Given the description of an element on the screen output the (x, y) to click on. 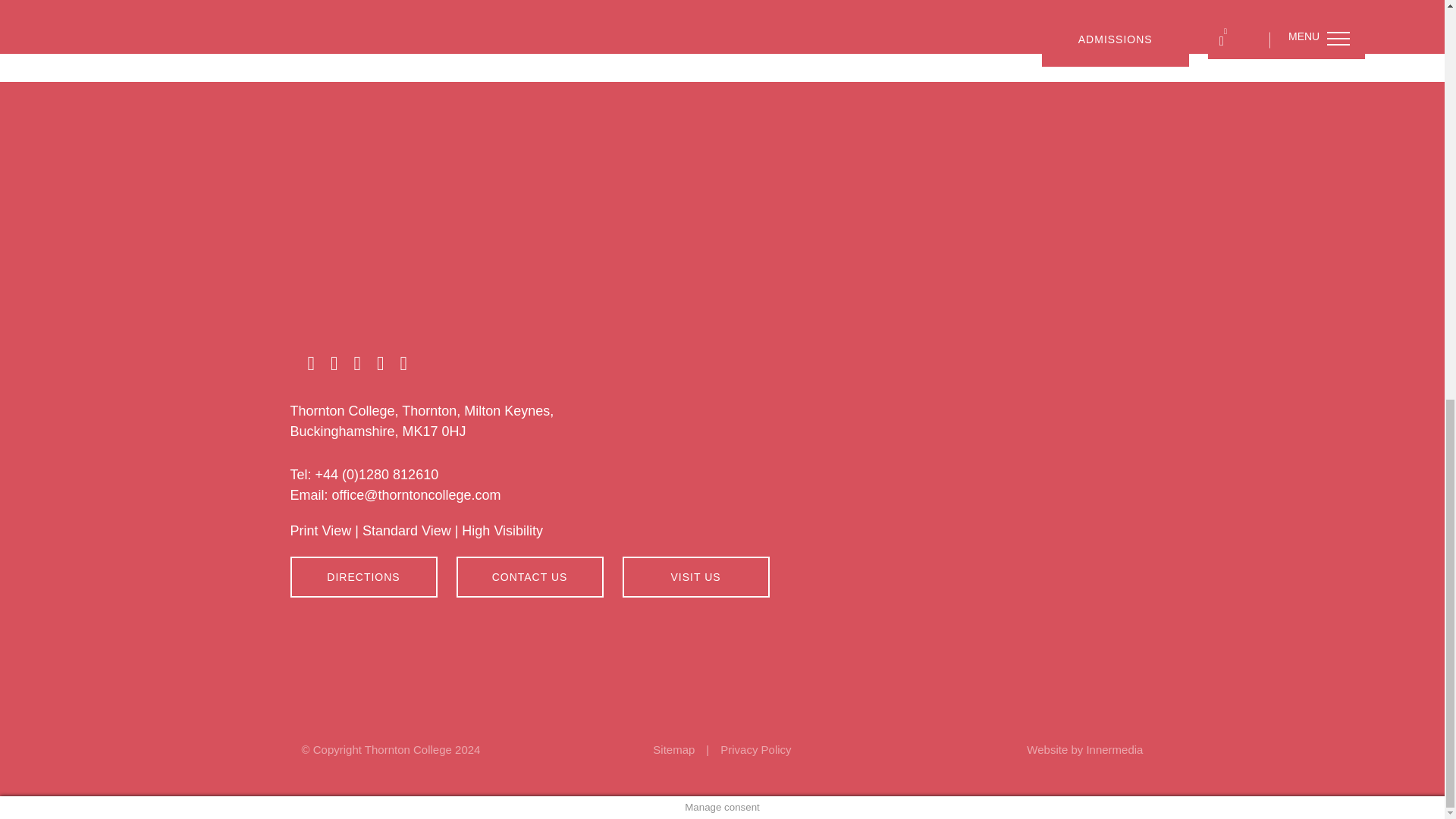
Switch to High Visibility (502, 530)
Switch to Standard Visibility (406, 530)
Switch to Print (319, 530)
